Given the description of an element on the screen output the (x, y) to click on. 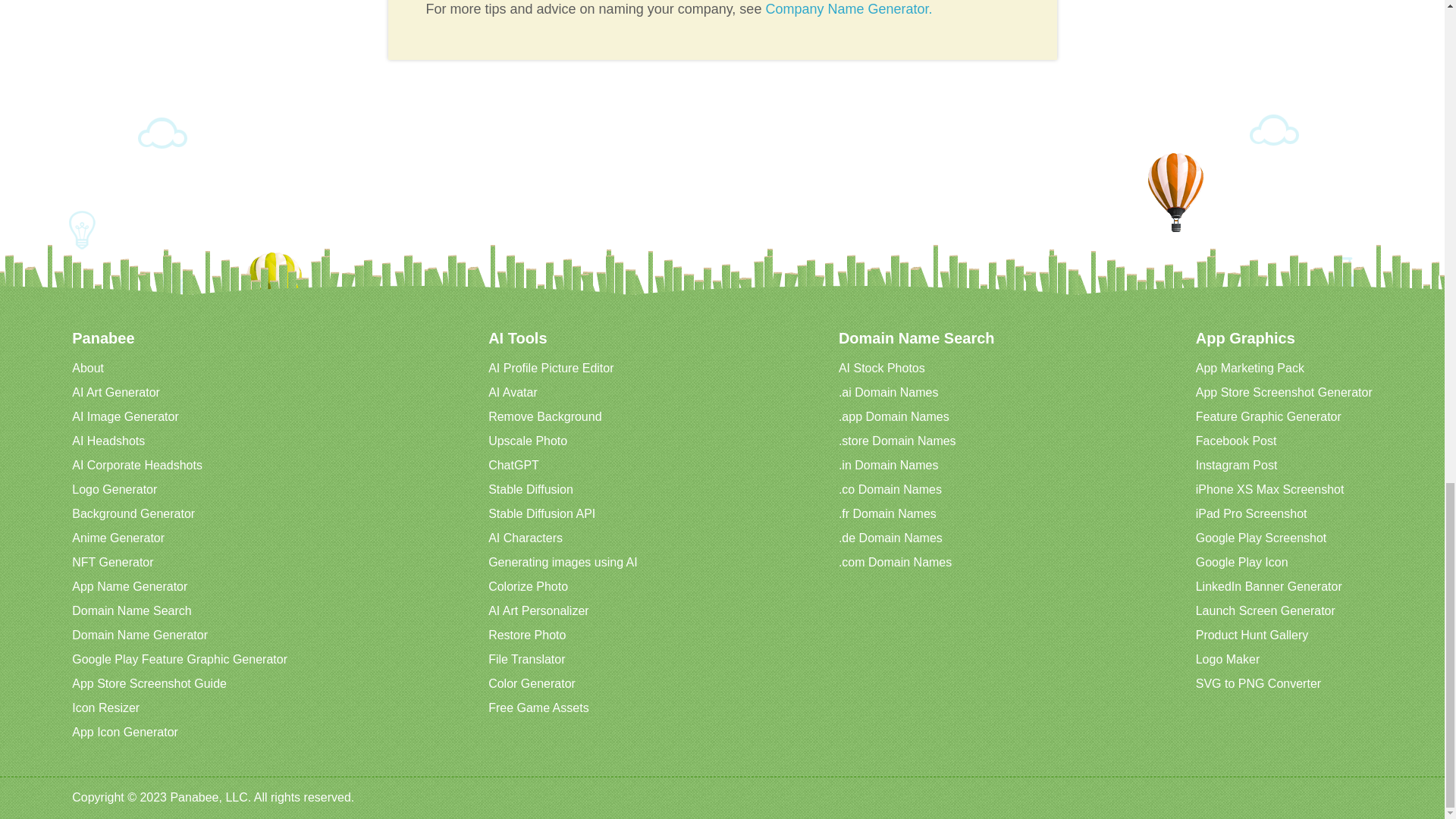
Domain Name Search (130, 610)
ChatGPT (512, 464)
Color Generator (531, 683)
App Store Screenshot Guide (149, 683)
App Icon Generator (124, 731)
Restore Photo (526, 634)
AI Avatar (512, 391)
Generating images using AI (562, 562)
Logo Generator (114, 489)
Icon Resizer (105, 707)
Company Name Generator. (848, 8)
App Name Generator (129, 585)
File Translator (525, 658)
Colorize Photo (527, 585)
Stable Diffusion API (541, 513)
